Given the description of an element on the screen output the (x, y) to click on. 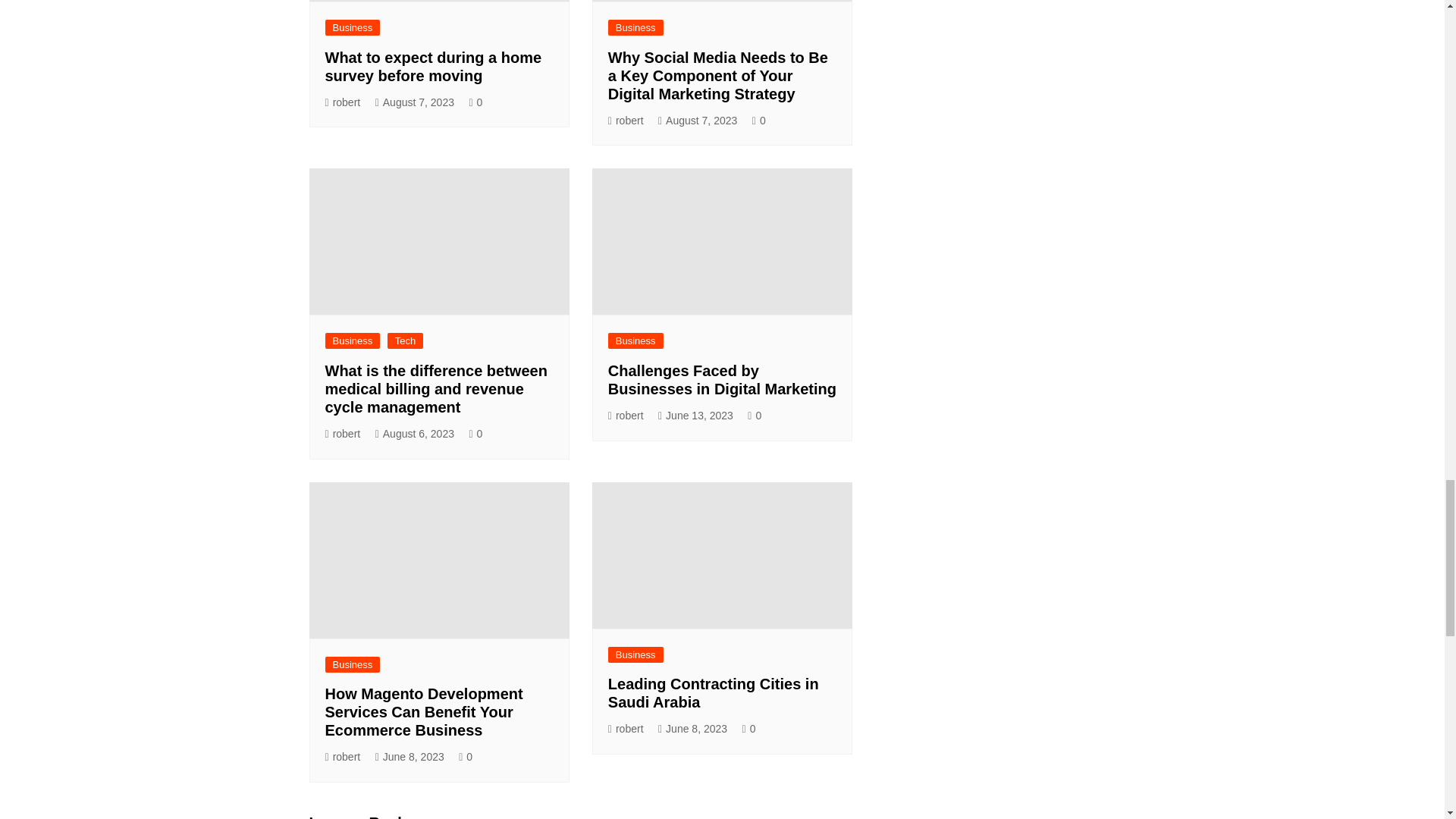
What to expect during a home survey before moving (432, 66)
August 7, 2023 (414, 102)
robert (341, 102)
Business (352, 27)
Business (635, 27)
robert (625, 120)
August 7, 2023 (697, 120)
